Given the description of an element on the screen output the (x, y) to click on. 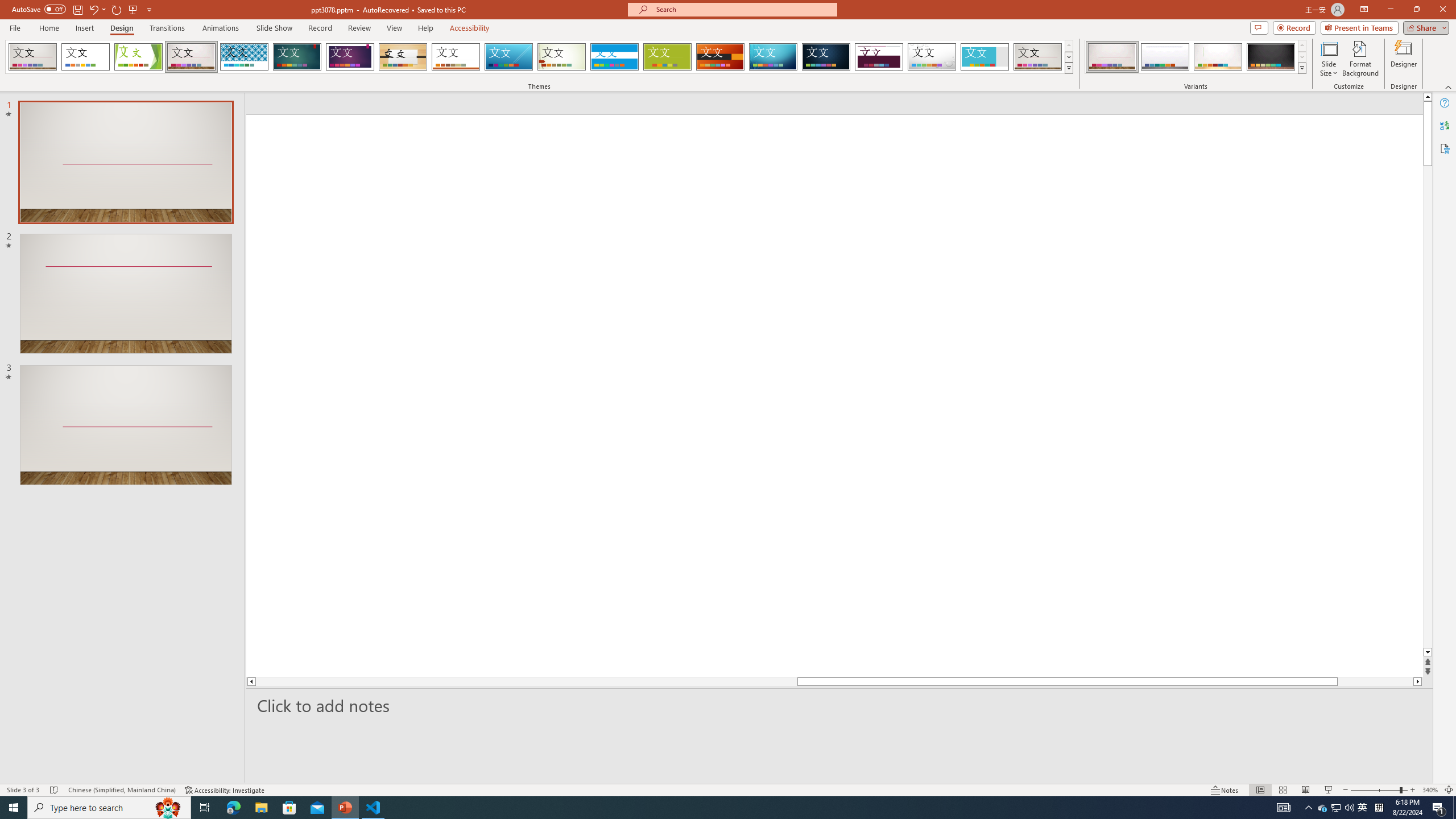
Droplet (931, 56)
Dividend (879, 56)
Ion (296, 56)
